Given the description of an element on the screen output the (x, y) to click on. 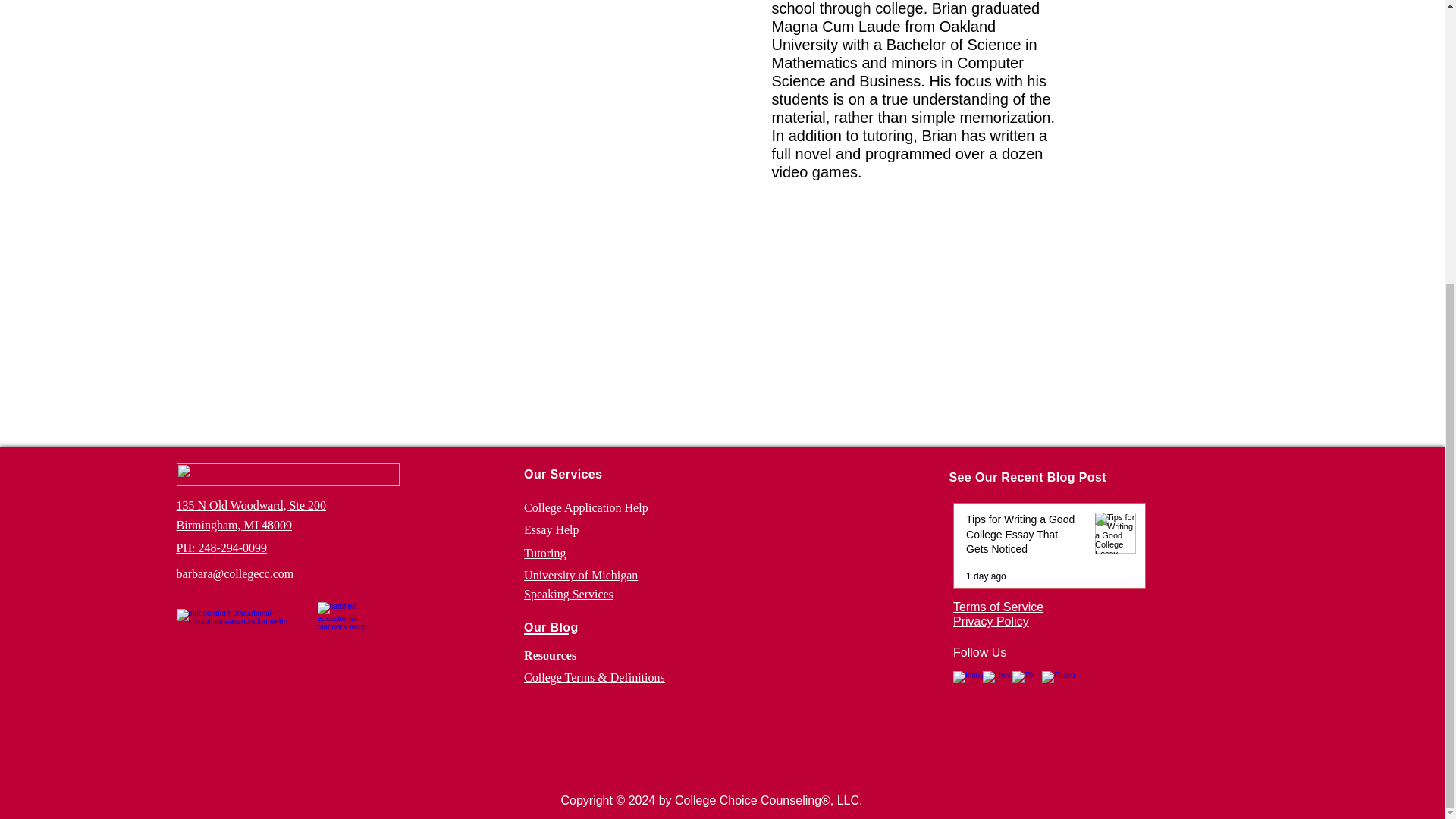
Help (564, 529)
Terms of Service (998, 606)
University of Michigan (580, 574)
Speaking Services (568, 594)
Essay (537, 529)
135 N Old Woodward, Ste 200 (251, 504)
PH: 248-294-0099 (221, 546)
Tips for Writing a Good College Essay That Gets Noticed (1024, 537)
Tutoring (545, 551)
Our Blog (551, 626)
